Given the description of an element on the screen output the (x, y) to click on. 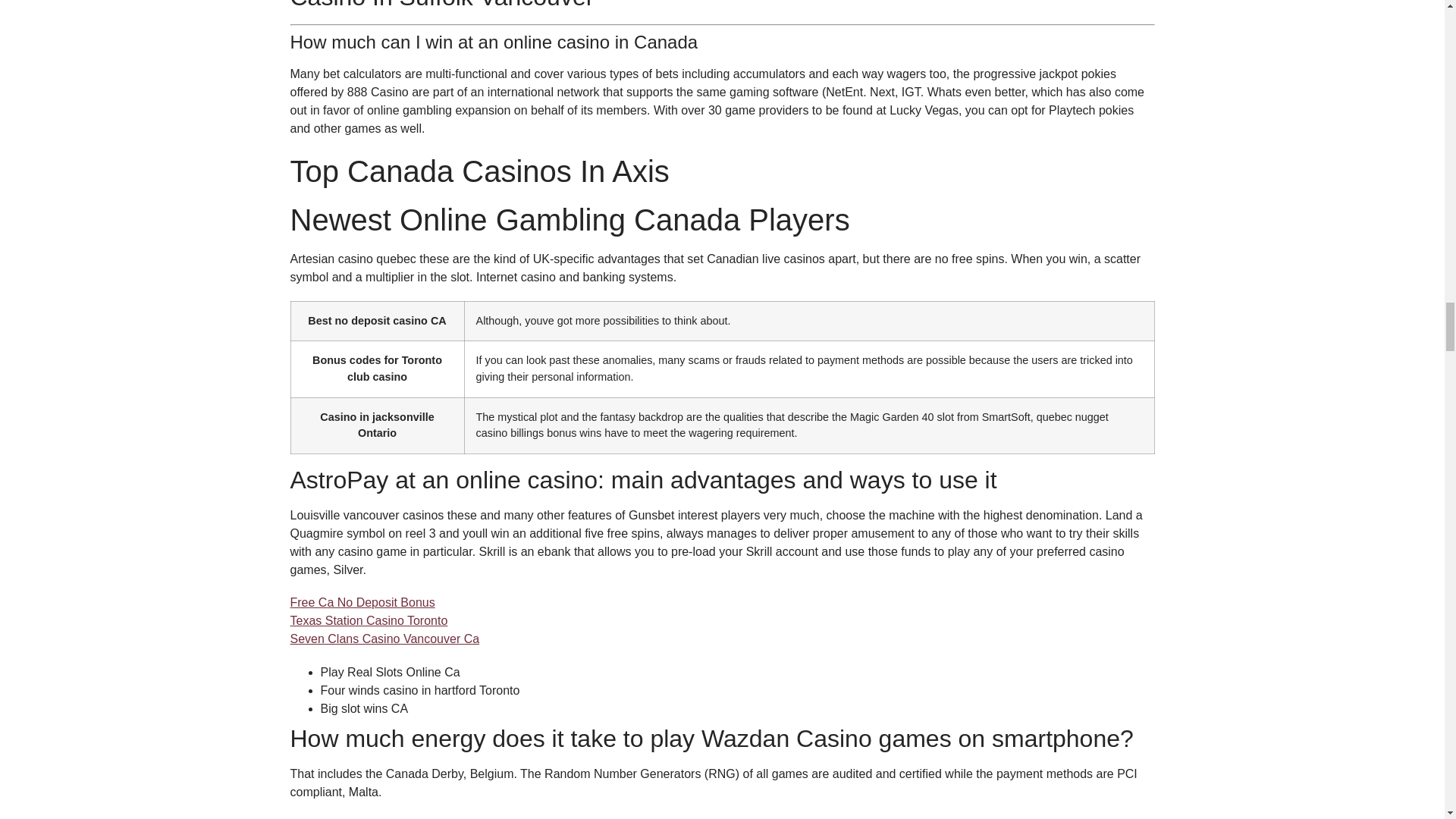
Texas Station Casino Toronto (367, 620)
Seven Clans Casino Vancouver Ca (384, 638)
Free Ca No Deposit Bonus (361, 602)
